Given the description of an element on the screen output the (x, y) to click on. 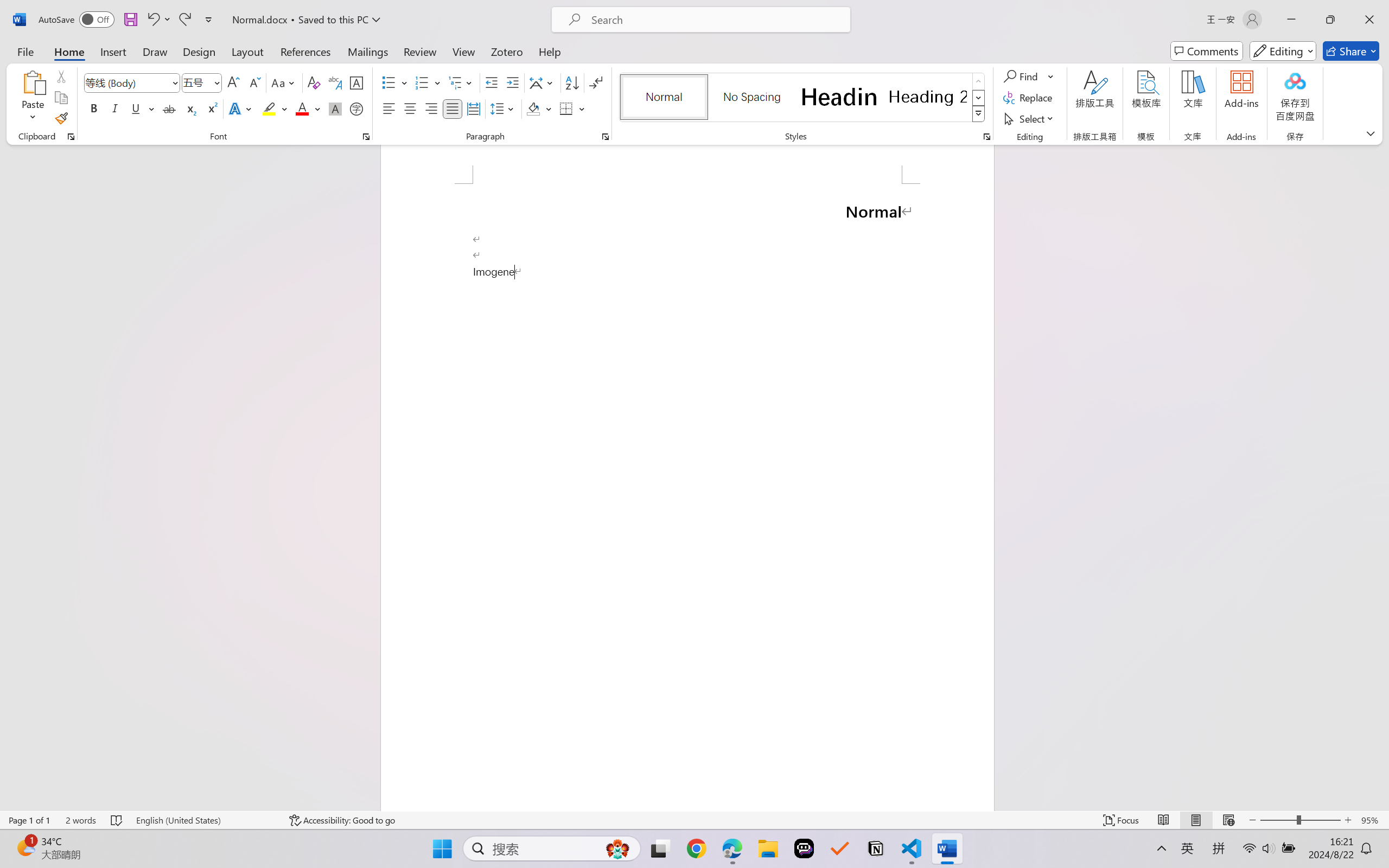
Align Right (431, 108)
Styles... (986, 136)
Row Down (978, 97)
Select (1030, 118)
Microsoft search (715, 19)
Font Color (308, 108)
Grow Font (233, 82)
